Given the description of an element on the screen output the (x, y) to click on. 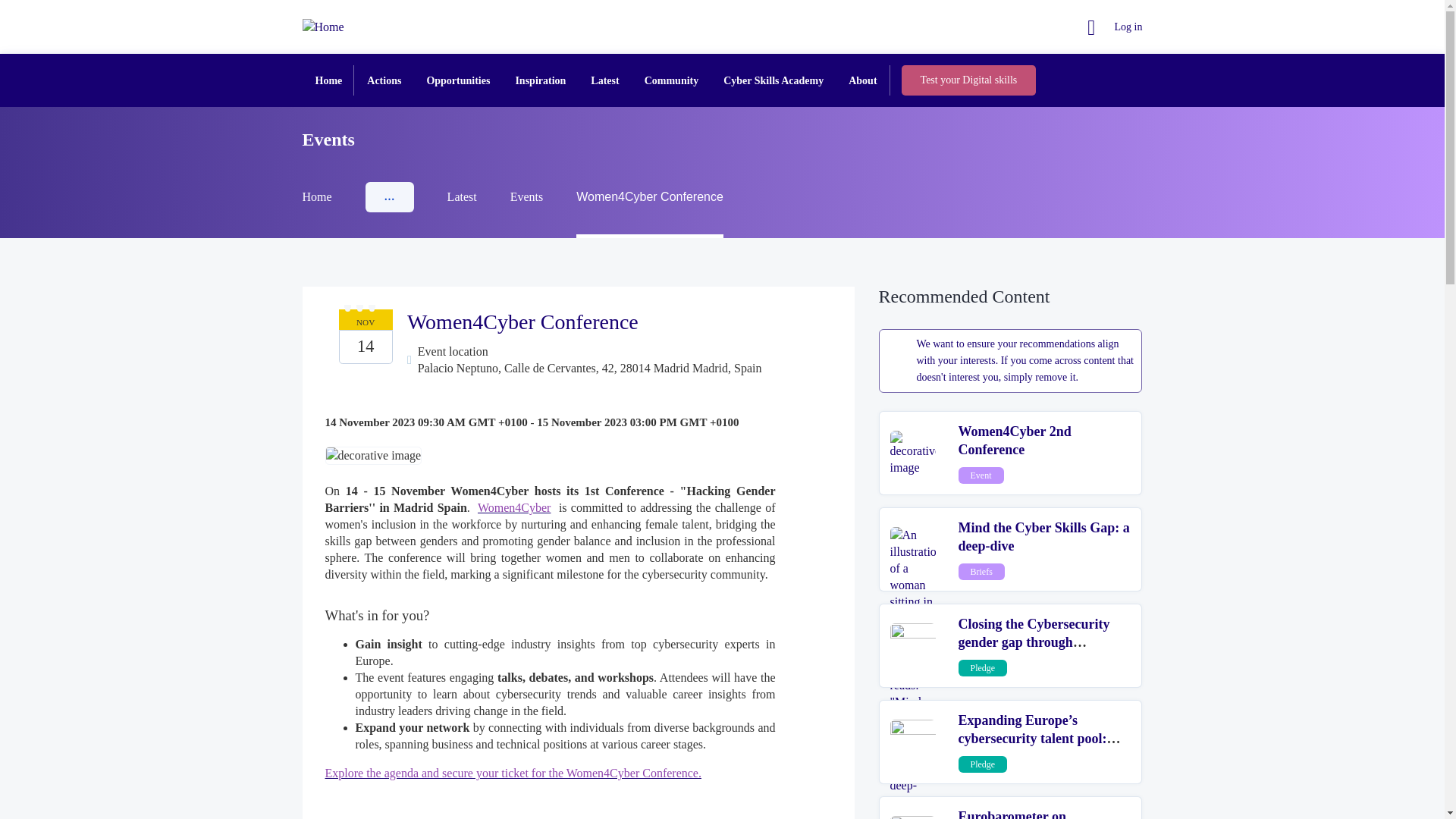
Inspiration (540, 80)
Community (671, 80)
Actions (384, 80)
Cyber Skills Academy (773, 80)
Home (328, 80)
Latest (604, 80)
Skip to main content (6, 6)
About (861, 80)
Log in (1114, 26)
Eurobarometer on Cyberskills (1012, 814)
Opportunities (457, 80)
